Given the description of an element on the screen output the (x, y) to click on. 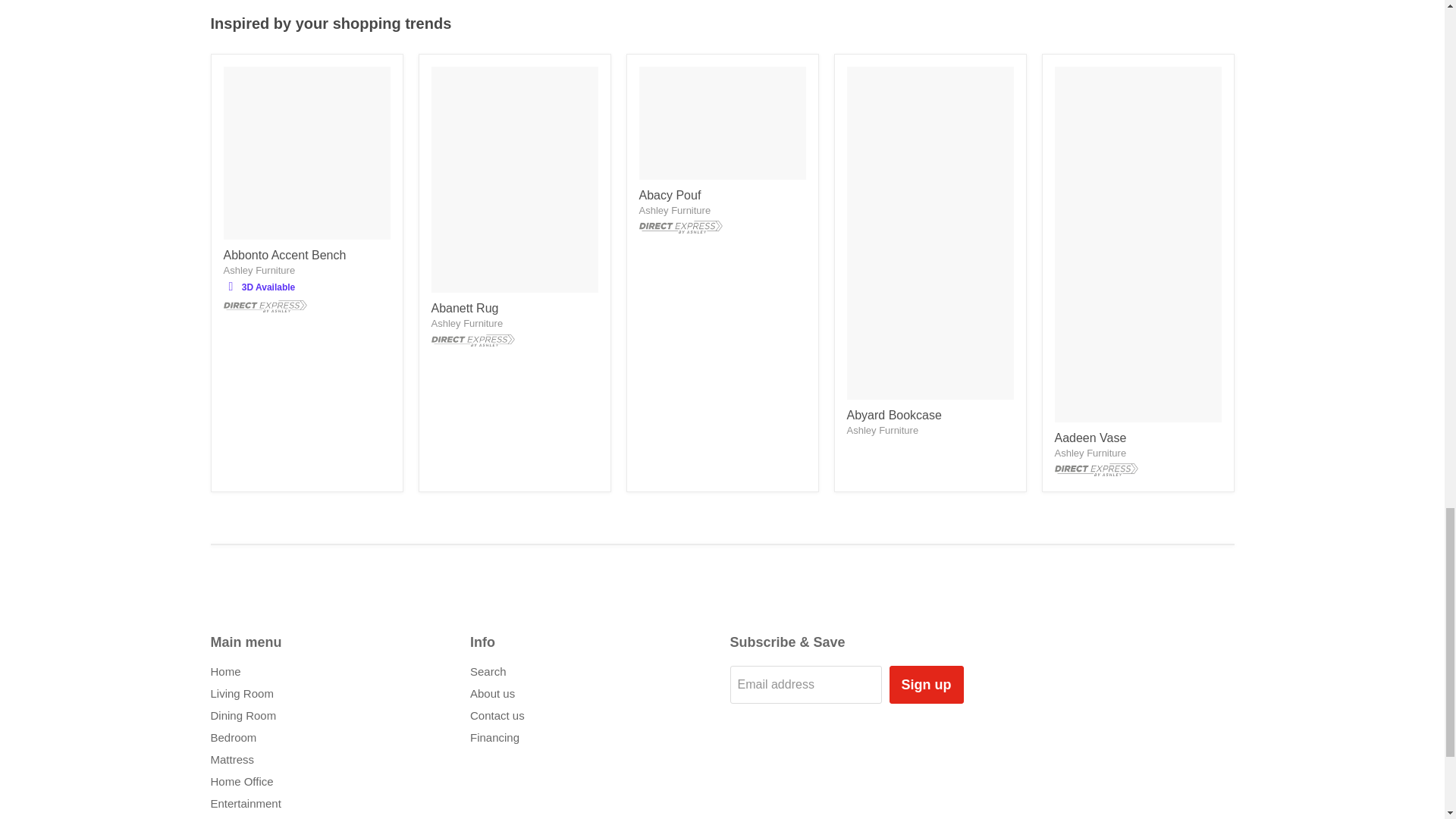
Ashley Furniture (674, 210)
Ashley Furniture (258, 270)
Ashley Furniture (1089, 452)
Ashley Furniture (881, 430)
Ashley Furniture (466, 323)
